Given the description of an element on the screen output the (x, y) to click on. 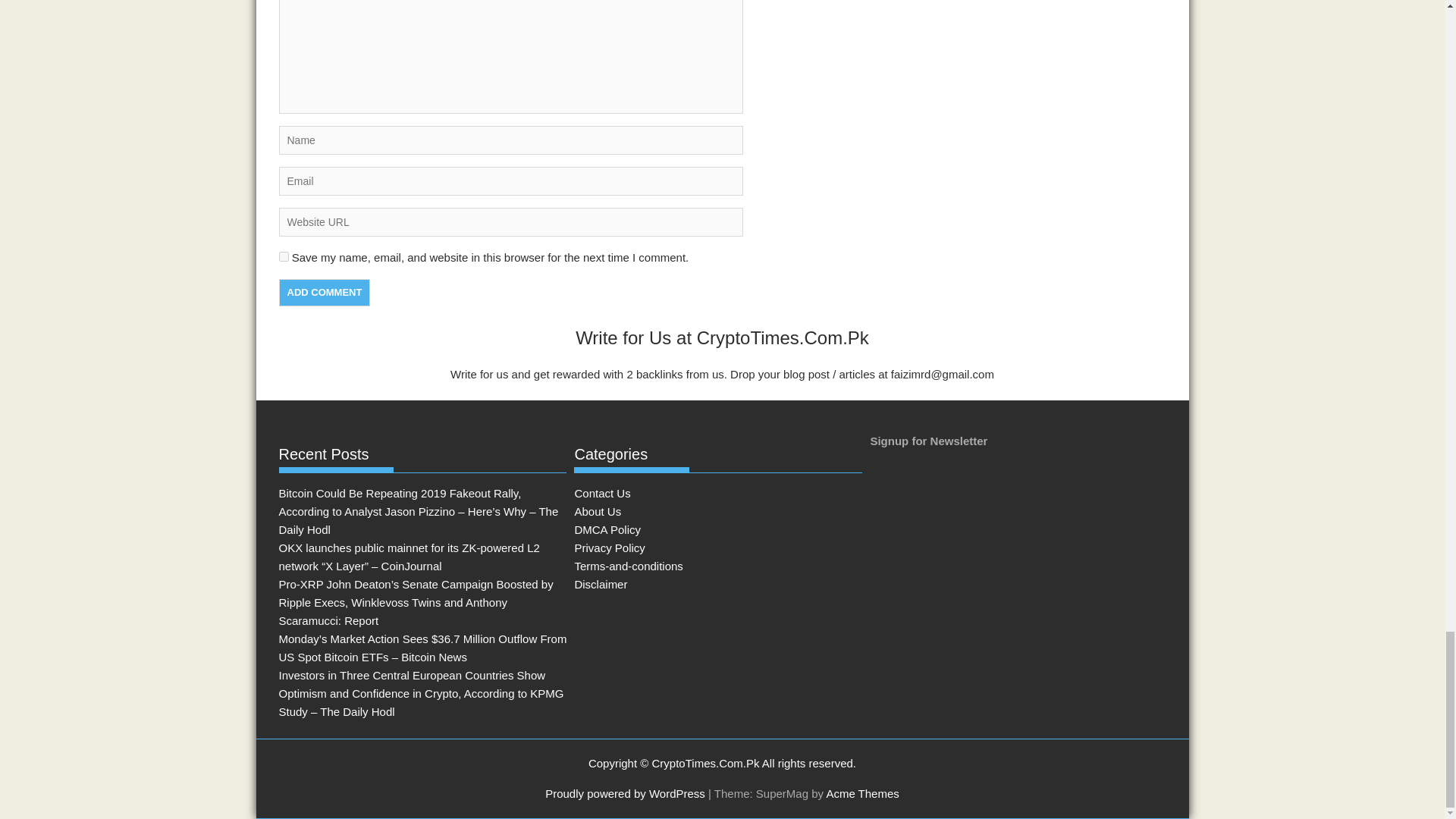
Add Comment (325, 292)
yes (283, 256)
